Given the description of an element on the screen output the (x, y) to click on. 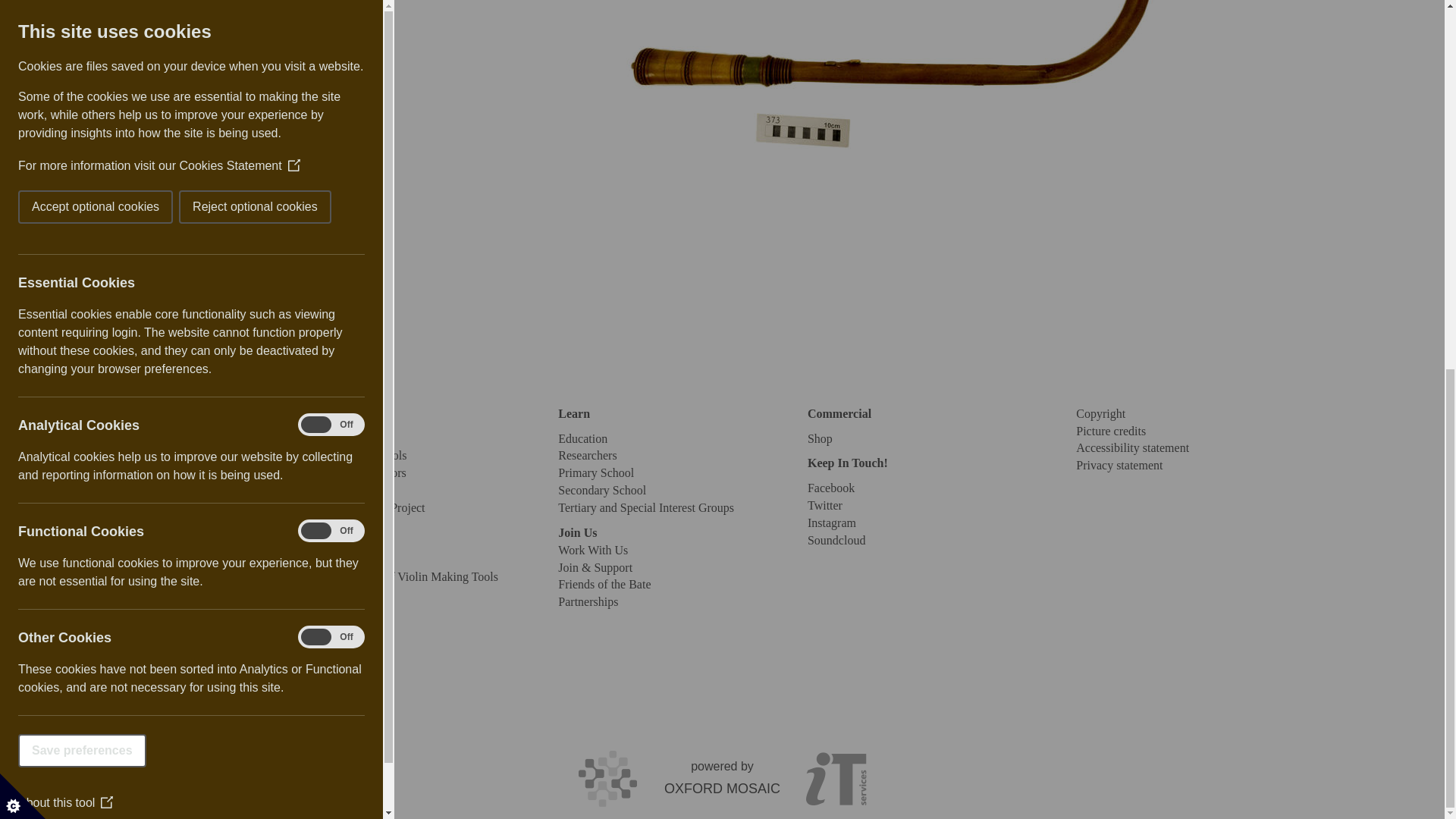
Save preferences (15, 82)
Crumhorn (892, 99)
